Given the description of an element on the screen output the (x, y) to click on. 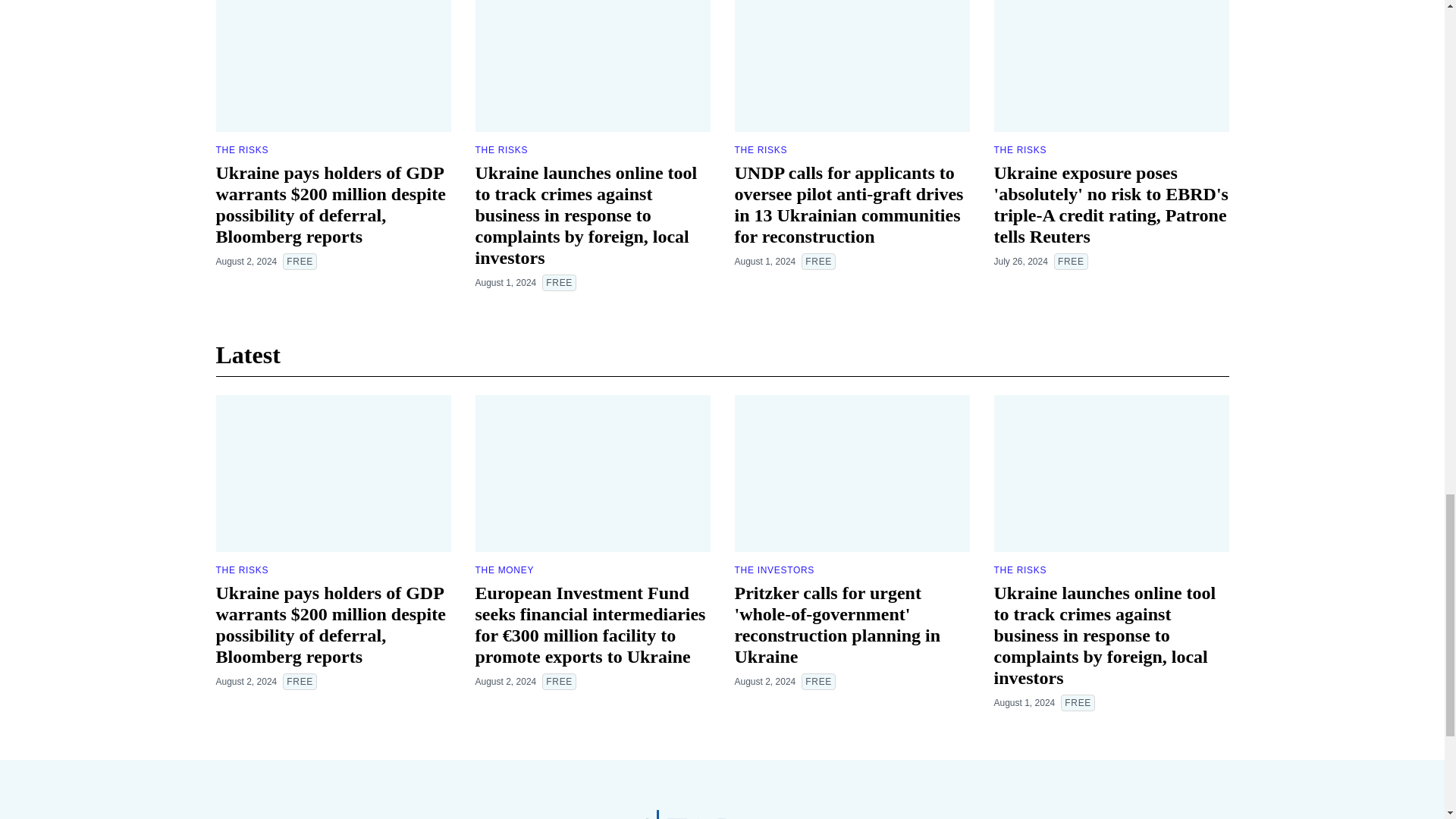
THE RISKS (500, 149)
THE RISKS (241, 149)
THE RISKS (760, 149)
